Given the description of an element on the screen output the (x, y) to click on. 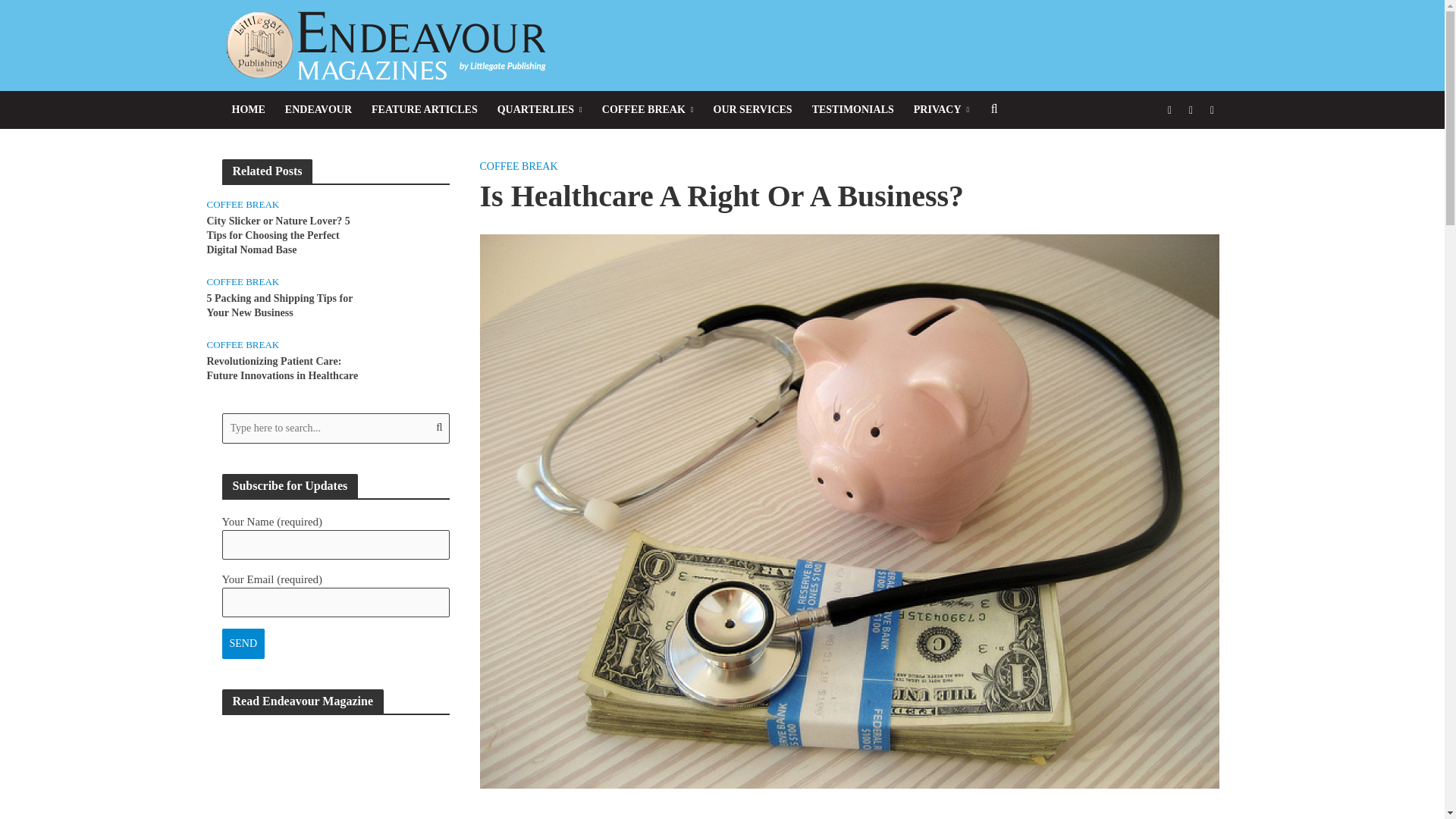
PRIVACY (941, 109)
Send (242, 643)
COFFEE BREAK (647, 109)
HOME (248, 109)
QUARTERLIES (539, 109)
FEATURE ARTICLES (424, 109)
TESTIMONIALS (853, 109)
OUR SERVICES (752, 109)
ENDEAVOUR (318, 109)
